Given the description of an element on the screen output the (x, y) to click on. 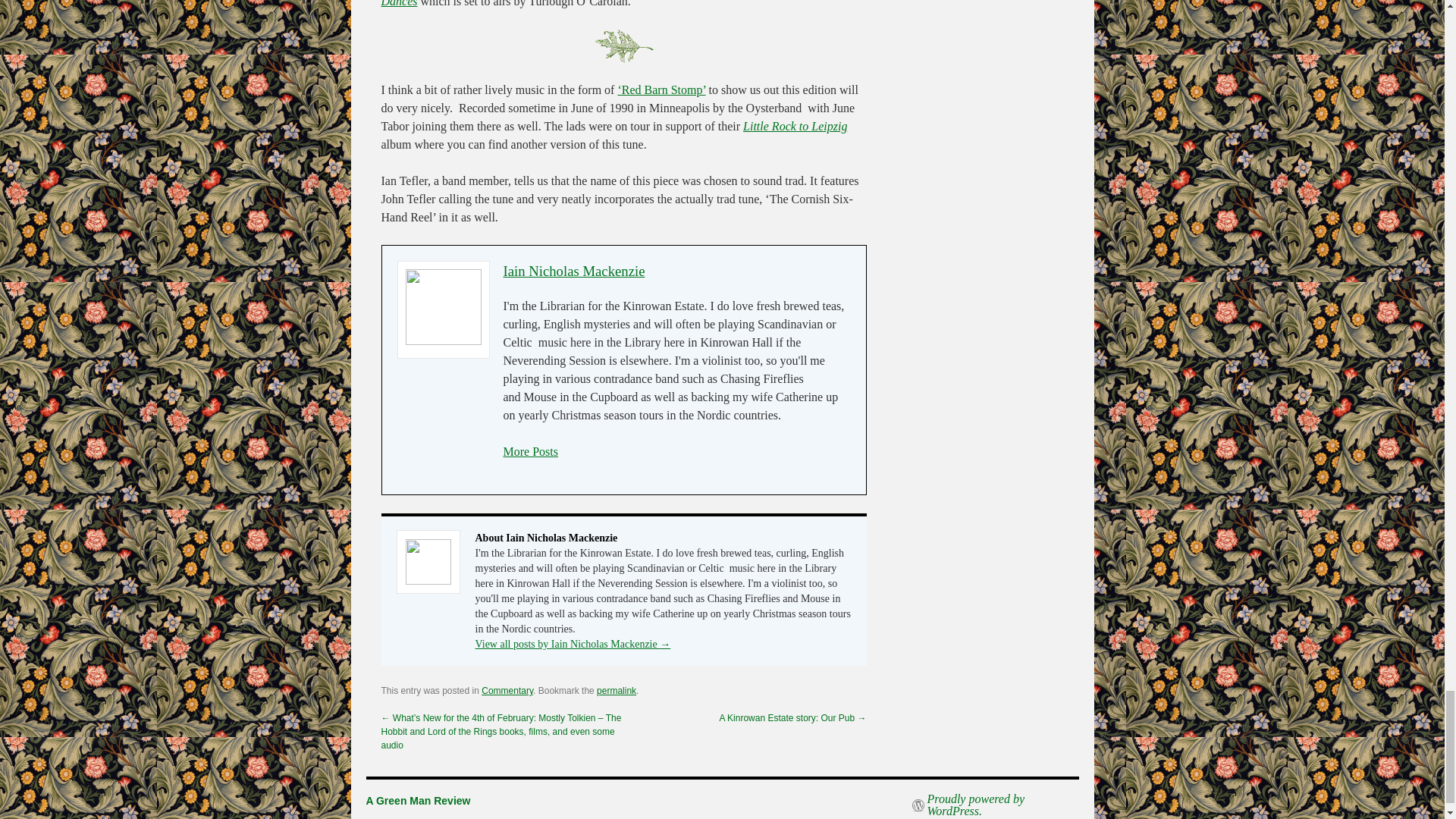
More posts by Iain Nicholas Mackenzie (530, 451)
The Blind Harper Dances: Modern English Country Dances (587, 3)
Iain Nicholas Mackenzie (574, 270)
Little Rock to Leipzig (794, 125)
Semantic Personal Publishing Platform (994, 805)
